Given the description of an element on the screen output the (x, y) to click on. 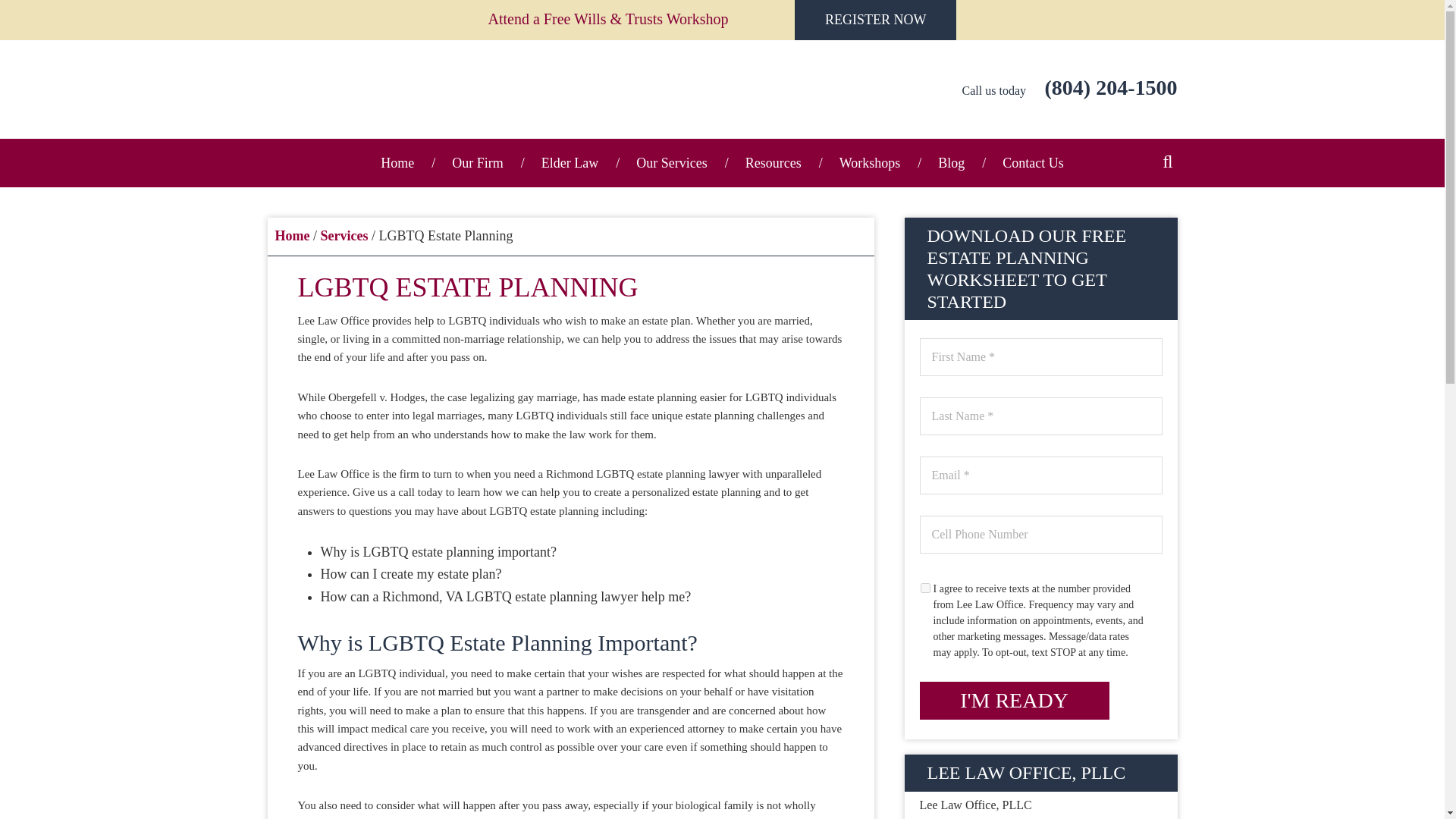
Lee Law Office, PLLC (403, 89)
Our Services (670, 162)
Resources (773, 162)
Home (396, 162)
REGISTER NOW (875, 20)
Our Firm (477, 162)
Elder Law (569, 162)
